Given the description of an element on the screen output the (x, y) to click on. 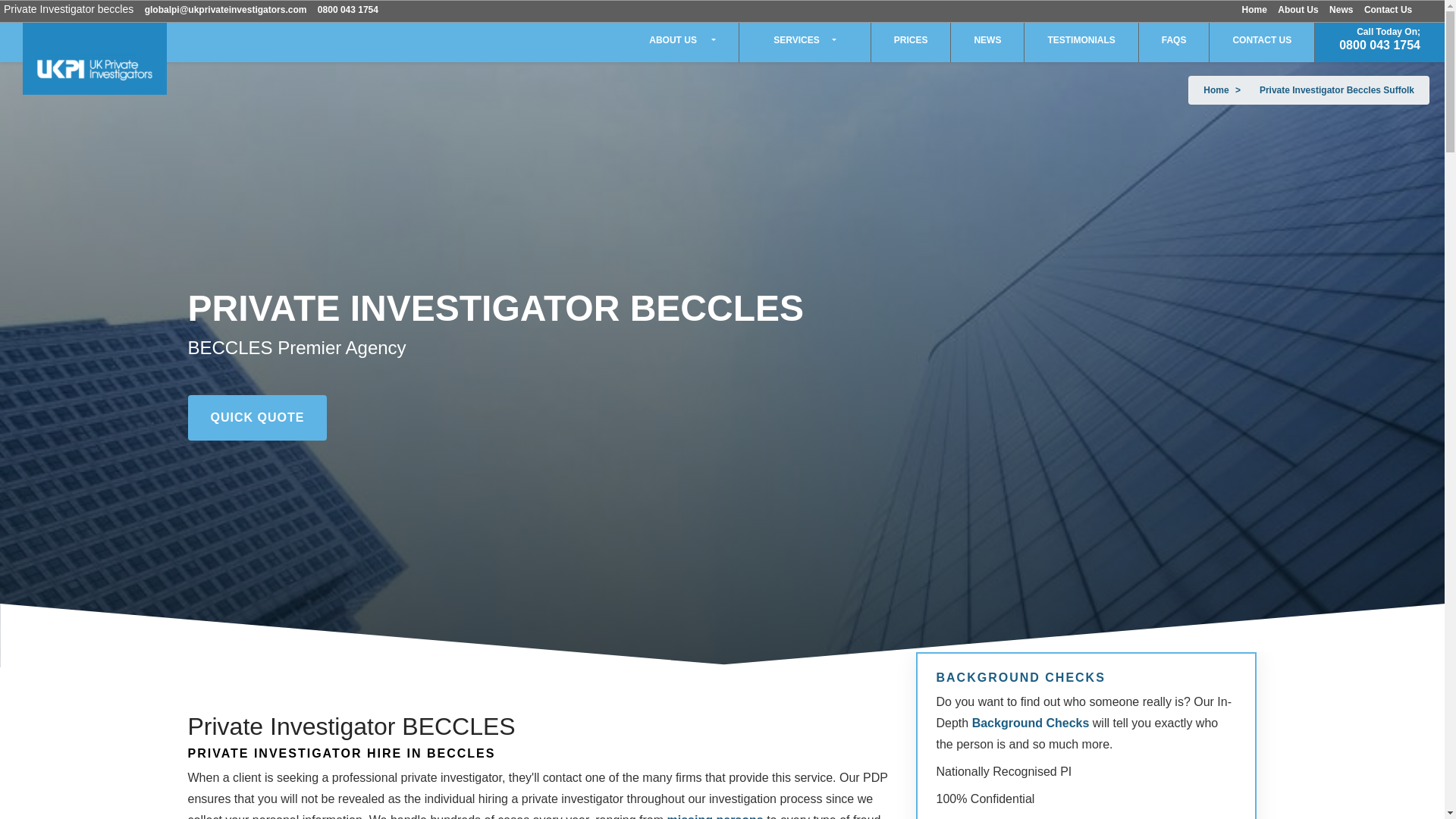
Contact Us (1388, 9)
Private Investigator Beccles Suffolk (1336, 90)
About Us (1297, 9)
Home (1253, 9)
News (1340, 9)
SERVICES (805, 39)
ABOUT US (682, 39)
0800 043 1754 (347, 9)
